Given the description of an element on the screen output the (x, y) to click on. 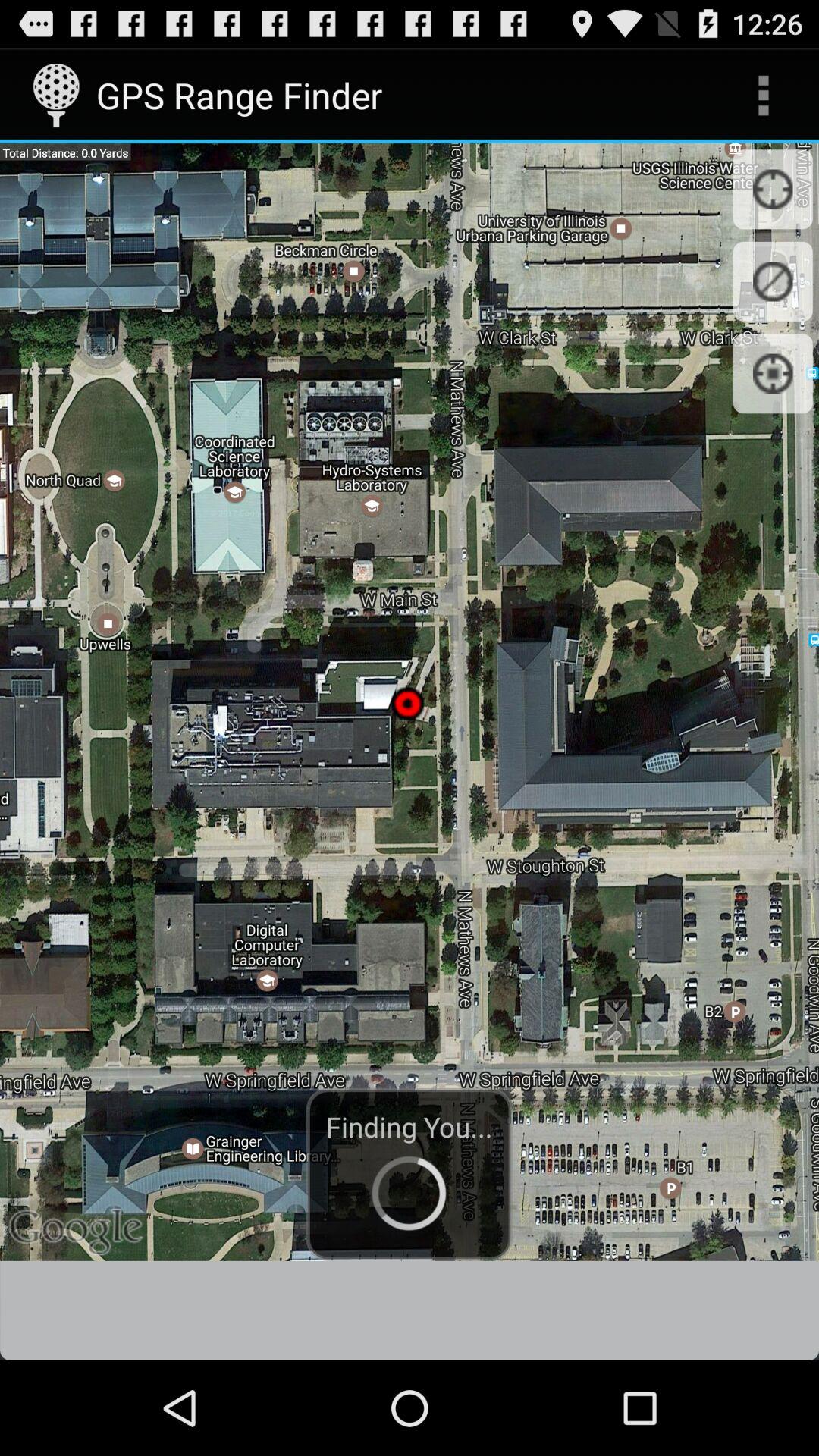
press the icon at the center (409, 701)
